Given the description of an element on the screen output the (x, y) to click on. 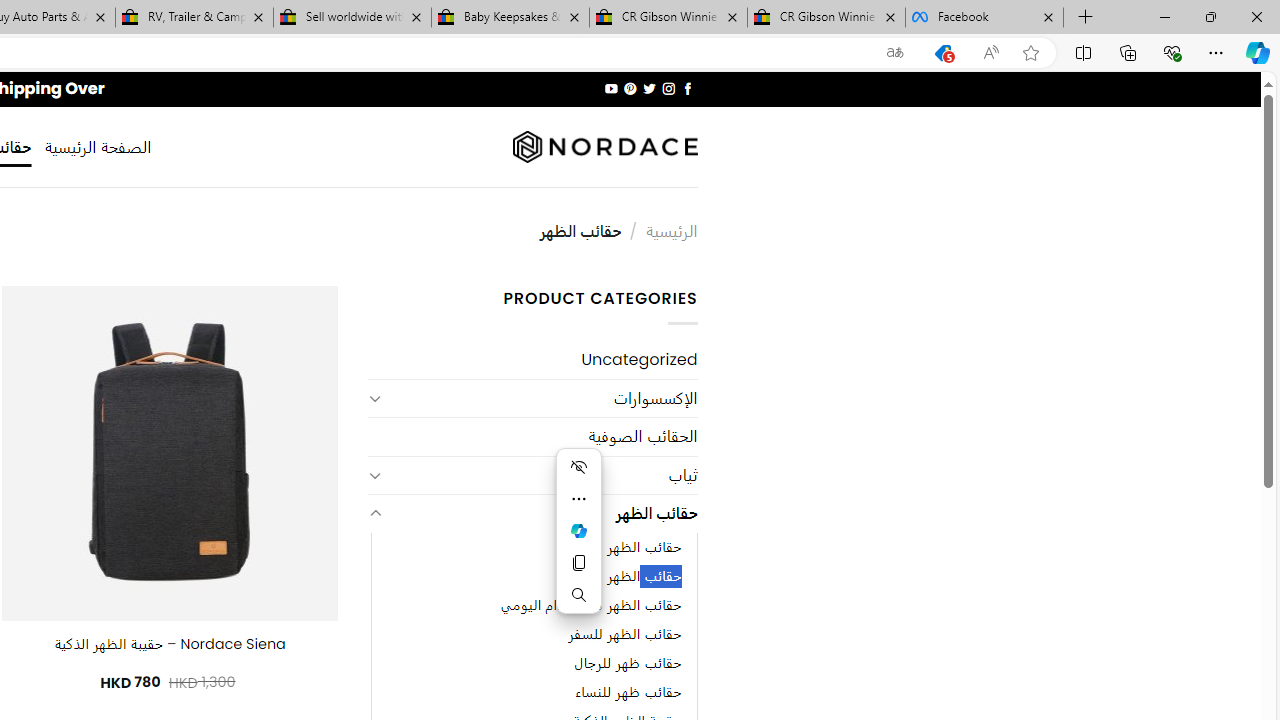
Uncategorized (532, 359)
More actions (578, 498)
Follow on Twitter (648, 88)
Follow on Instagram (667, 88)
